Given the description of an element on the screen output the (x, y) to click on. 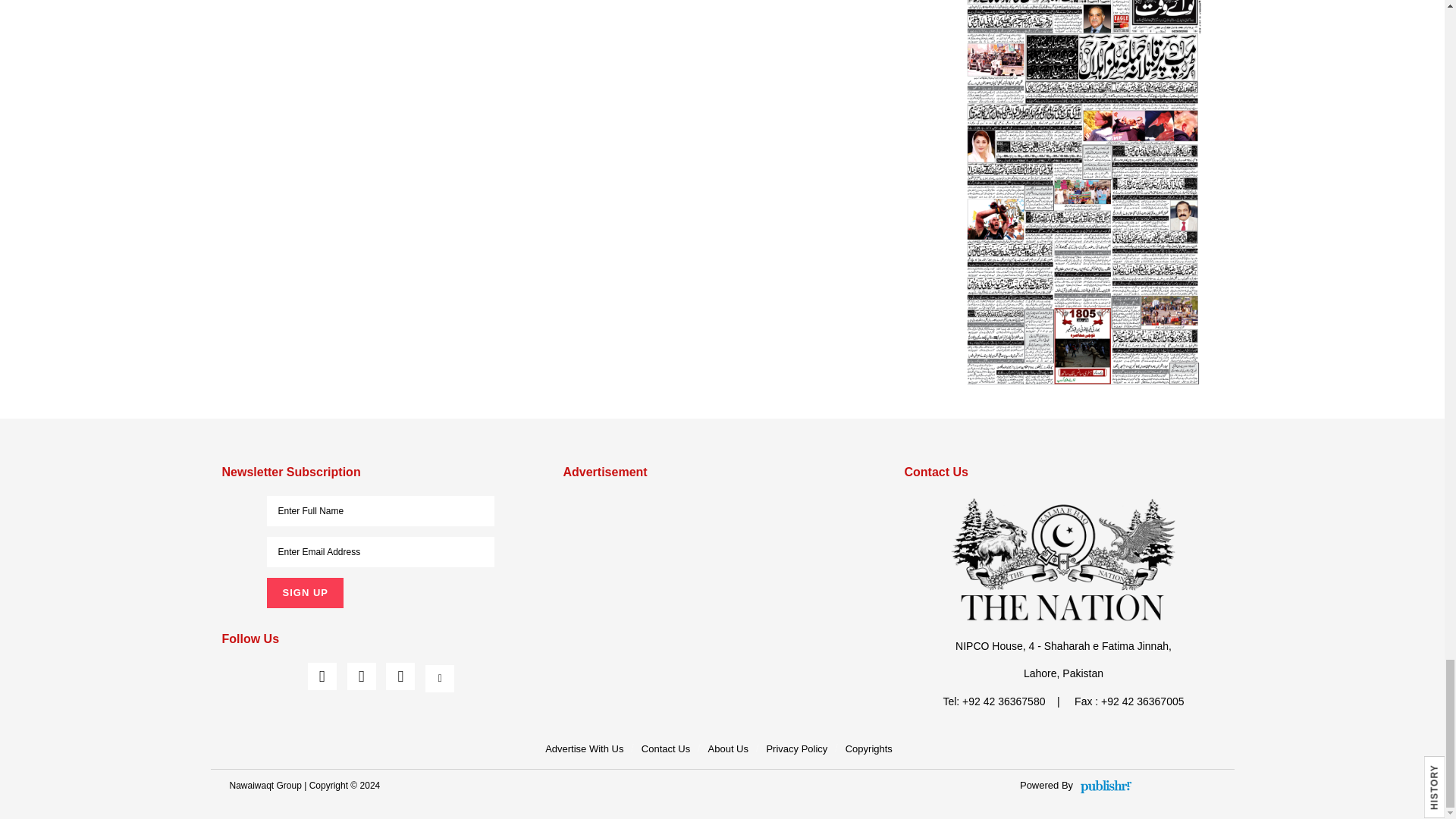
Sign up (304, 593)
